Given the description of an element on the screen output the (x, y) to click on. 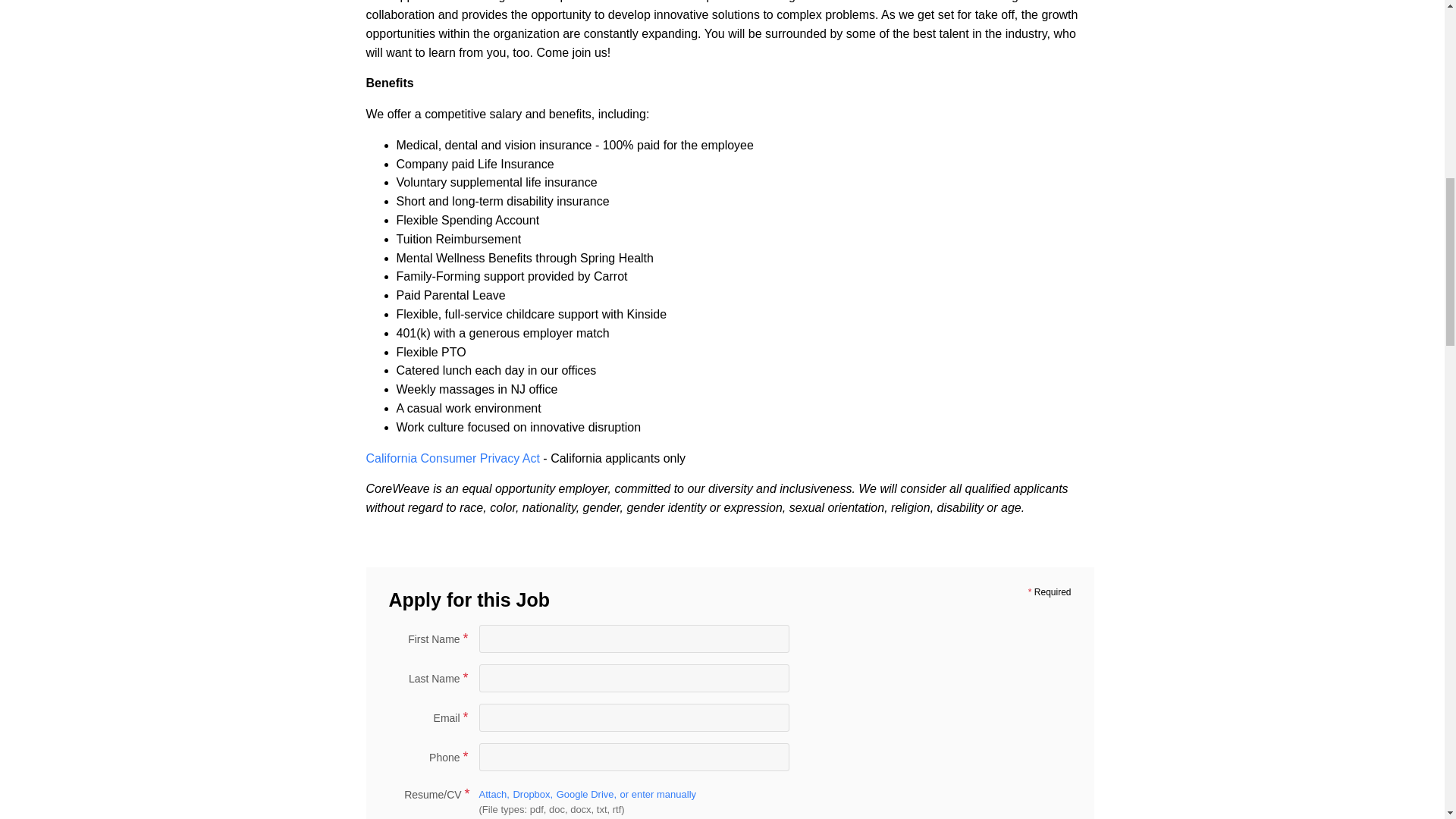
Dropbox (532, 794)
Attach (494, 794)
California Consumer Privacy Act (454, 458)
Google Drive (586, 794)
or enter manually (657, 794)
